Given the description of an element on the screen output the (x, y) to click on. 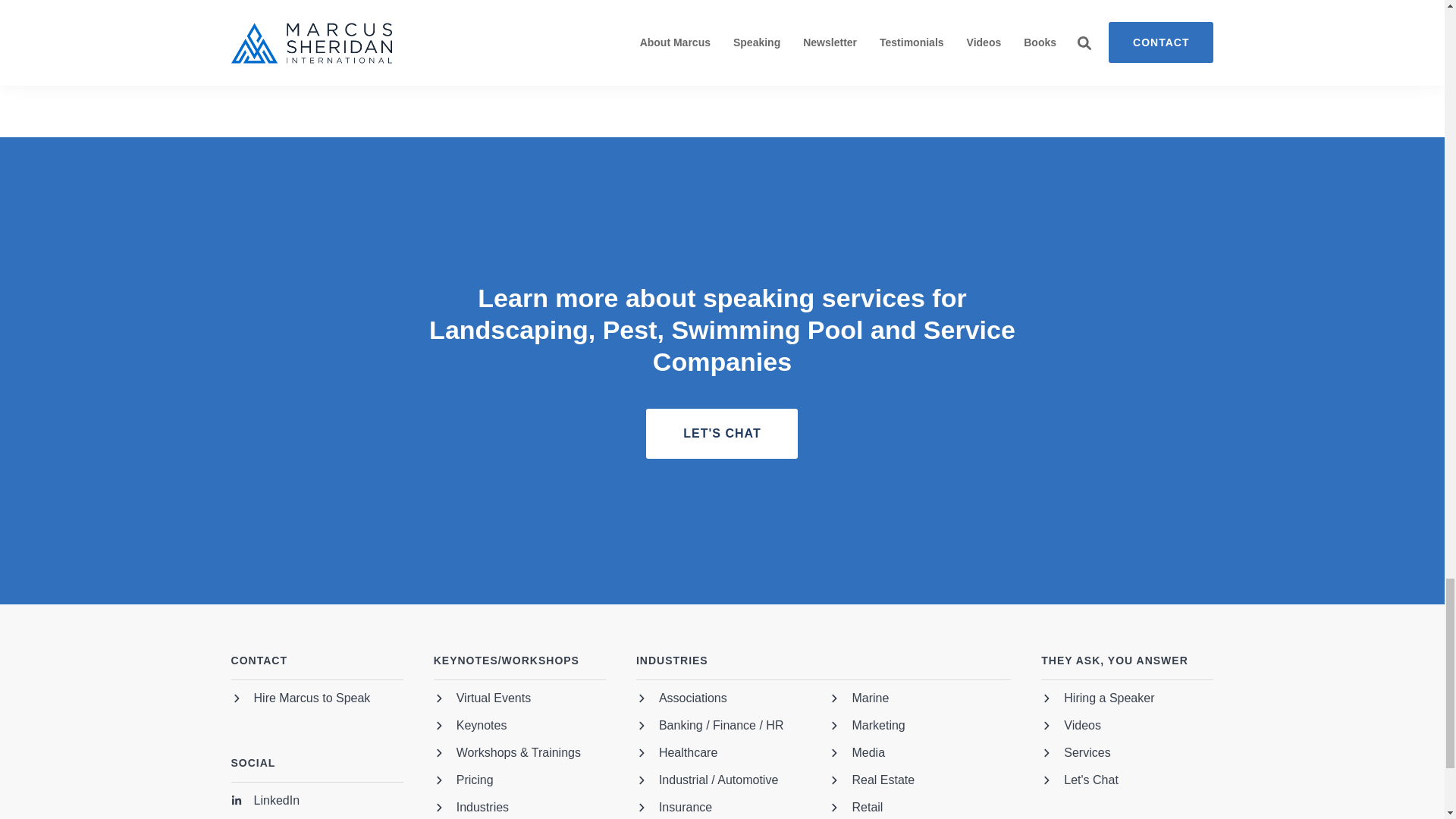
LET'S CHAT (721, 433)
Let's Chat (721, 433)
Click for LinkedIn Profile (265, 803)
Industries (470, 809)
Keynotes (469, 727)
INDUSTRIES (823, 666)
Pricing (463, 782)
LinkedIn (265, 803)
Virtual Events (482, 700)
Hire Marcus to Speak (301, 700)
Healthcare (676, 754)
Associations (681, 700)
